Given the description of an element on the screen output the (x, y) to click on. 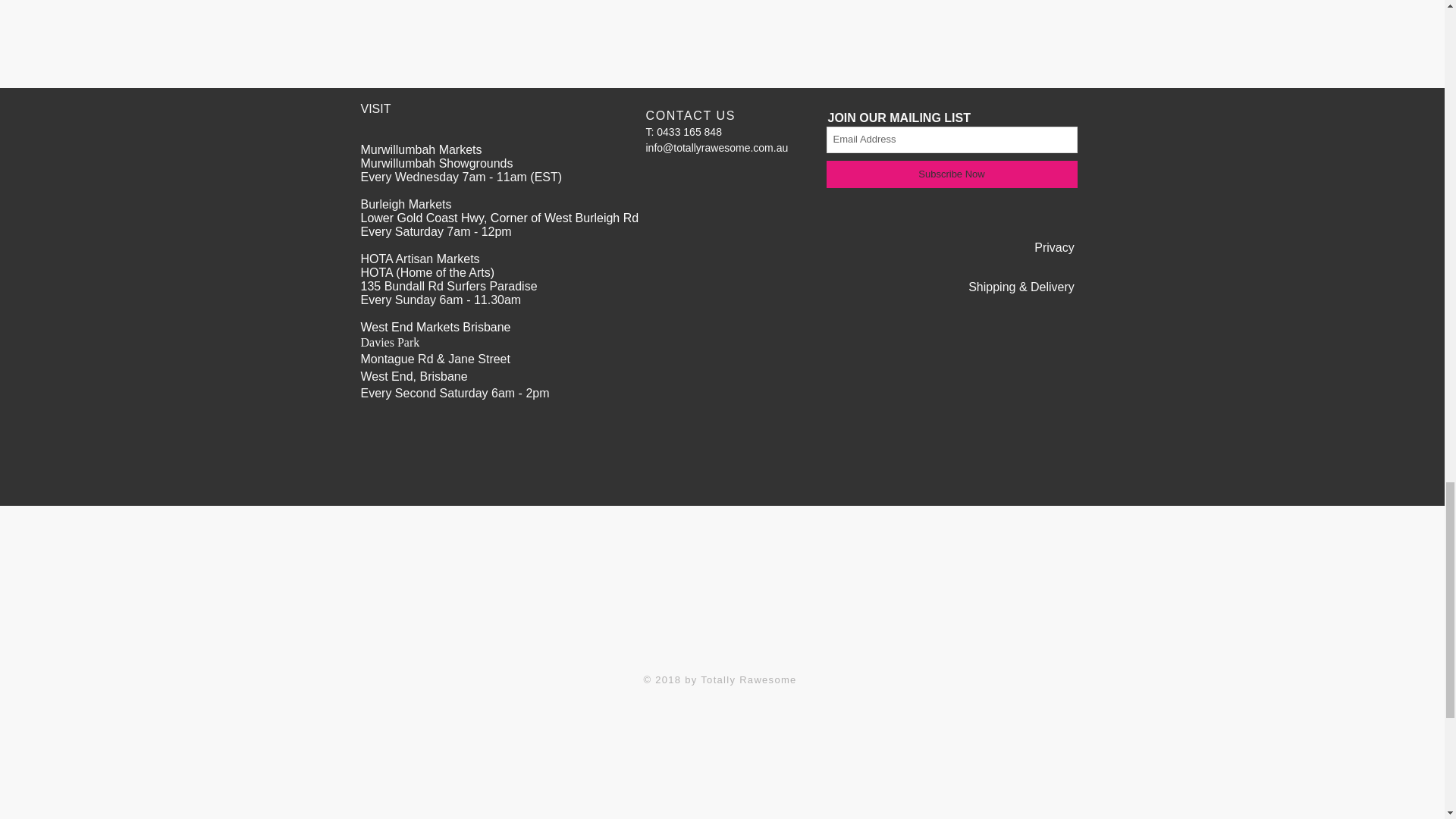
Disclaimer (1046, 627)
Privacy (1053, 247)
Subscribe Now (952, 174)
